Given the description of an element on the screen output the (x, y) to click on. 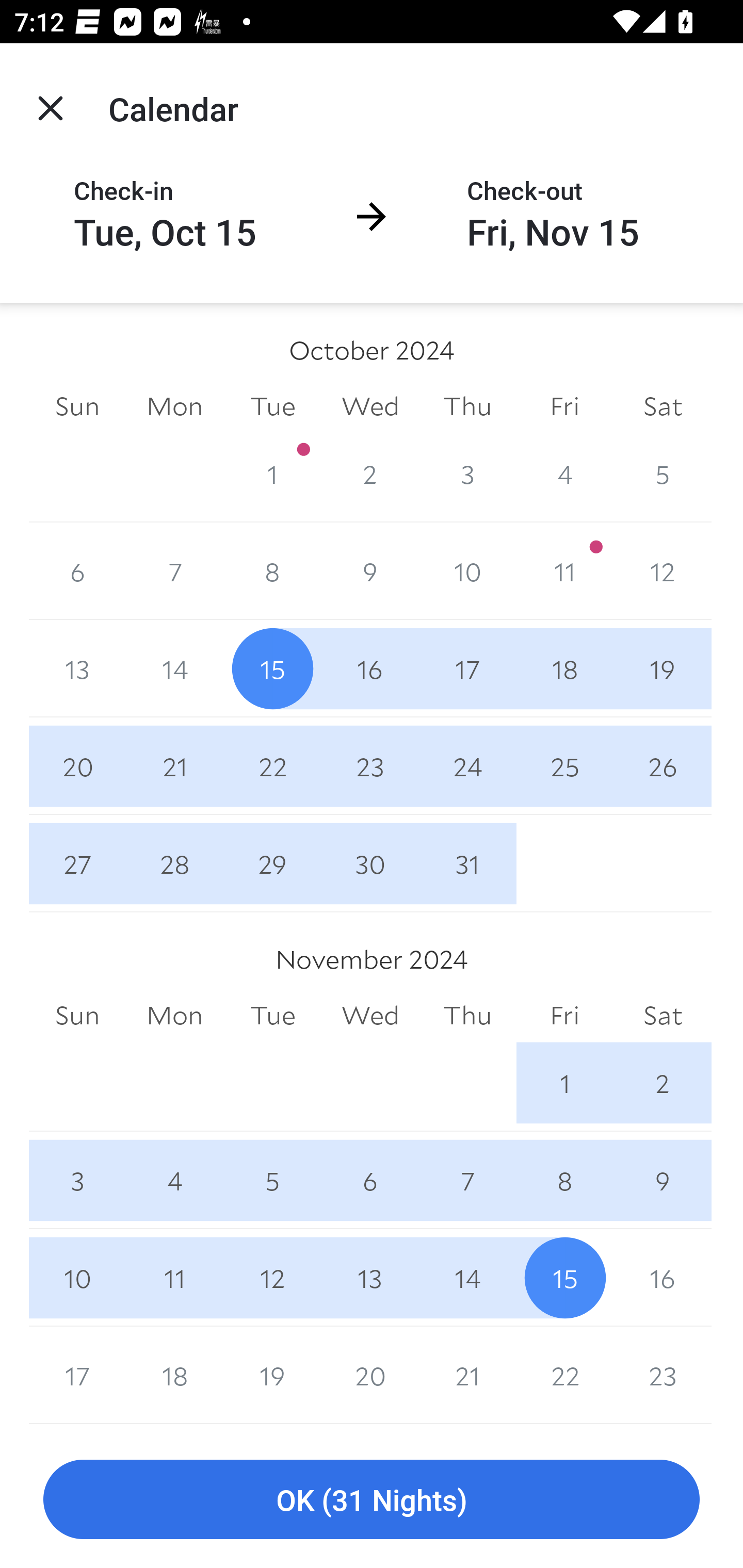
Sun (77, 405)
Mon (174, 405)
Tue (272, 405)
Wed (370, 405)
Thu (467, 405)
Fri (564, 405)
Sat (662, 405)
1 1 October 2024 (272, 473)
2 2 October 2024 (370, 473)
3 3 October 2024 (467, 473)
4 4 October 2024 (564, 473)
5 5 October 2024 (662, 473)
6 6 October 2024 (77, 570)
7 7 October 2024 (174, 570)
8 8 October 2024 (272, 570)
9 9 October 2024 (370, 570)
10 10 October 2024 (467, 570)
11 11 October 2024 (564, 570)
12 12 October 2024 (662, 570)
13 13 October 2024 (77, 668)
14 14 October 2024 (174, 668)
15 15 October 2024 (272, 668)
16 16 October 2024 (370, 668)
17 17 October 2024 (467, 668)
18 18 October 2024 (564, 668)
19 19 October 2024 (662, 668)
20 20 October 2024 (77, 766)
21 21 October 2024 (174, 766)
22 22 October 2024 (272, 766)
23 23 October 2024 (370, 766)
24 24 October 2024 (467, 766)
25 25 October 2024 (564, 766)
26 26 October 2024 (662, 766)
27 27 October 2024 (77, 863)
28 28 October 2024 (174, 863)
29 29 October 2024 (272, 863)
30 30 October 2024 (370, 863)
31 31 October 2024 (467, 863)
Sun (77, 1015)
Mon (174, 1015)
Tue (272, 1015)
Wed (370, 1015)
Thu (467, 1015)
Fri (564, 1015)
Sat (662, 1015)
1 1 November 2024 (564, 1083)
2 2 November 2024 (662, 1083)
3 3 November 2024 (77, 1180)
4 4 November 2024 (174, 1180)
